Given the description of an element on the screen output the (x, y) to click on. 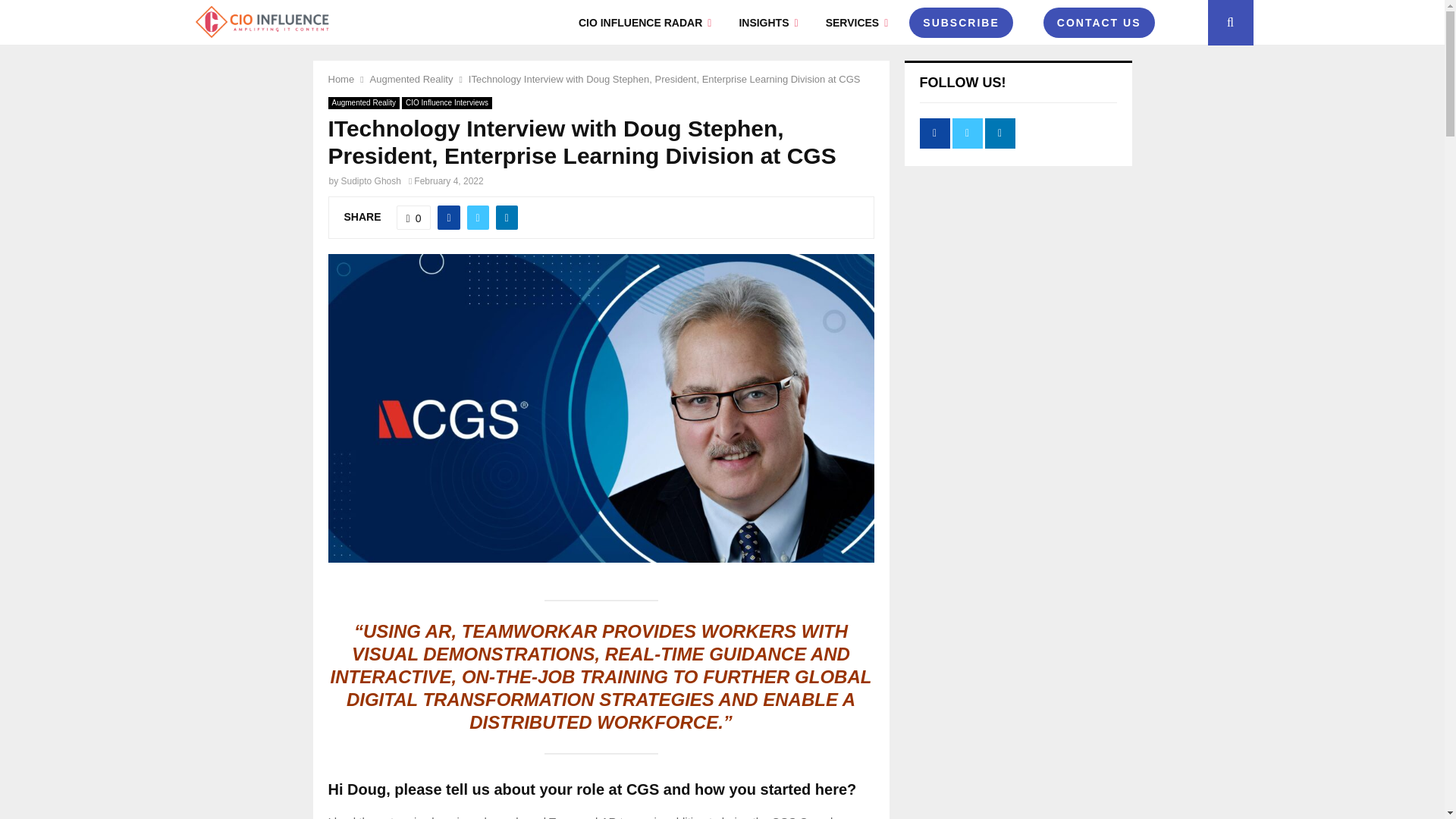
Like (413, 217)
CIO INFLUENCE RADAR (644, 22)
